Given the description of an element on the screen output the (x, y) to click on. 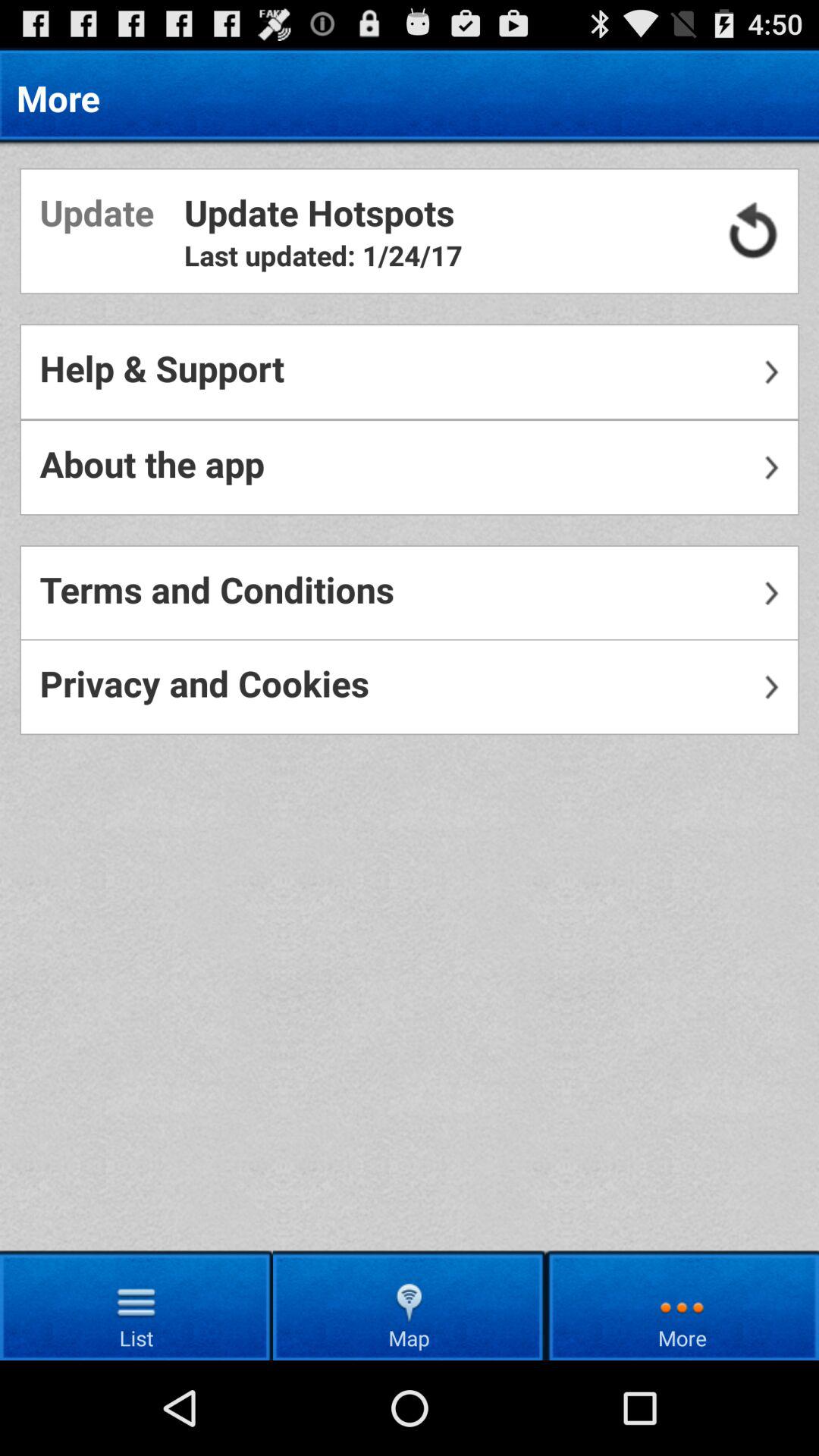
turn on item above terms and conditions (409, 467)
